Given the description of an element on the screen output the (x, y) to click on. 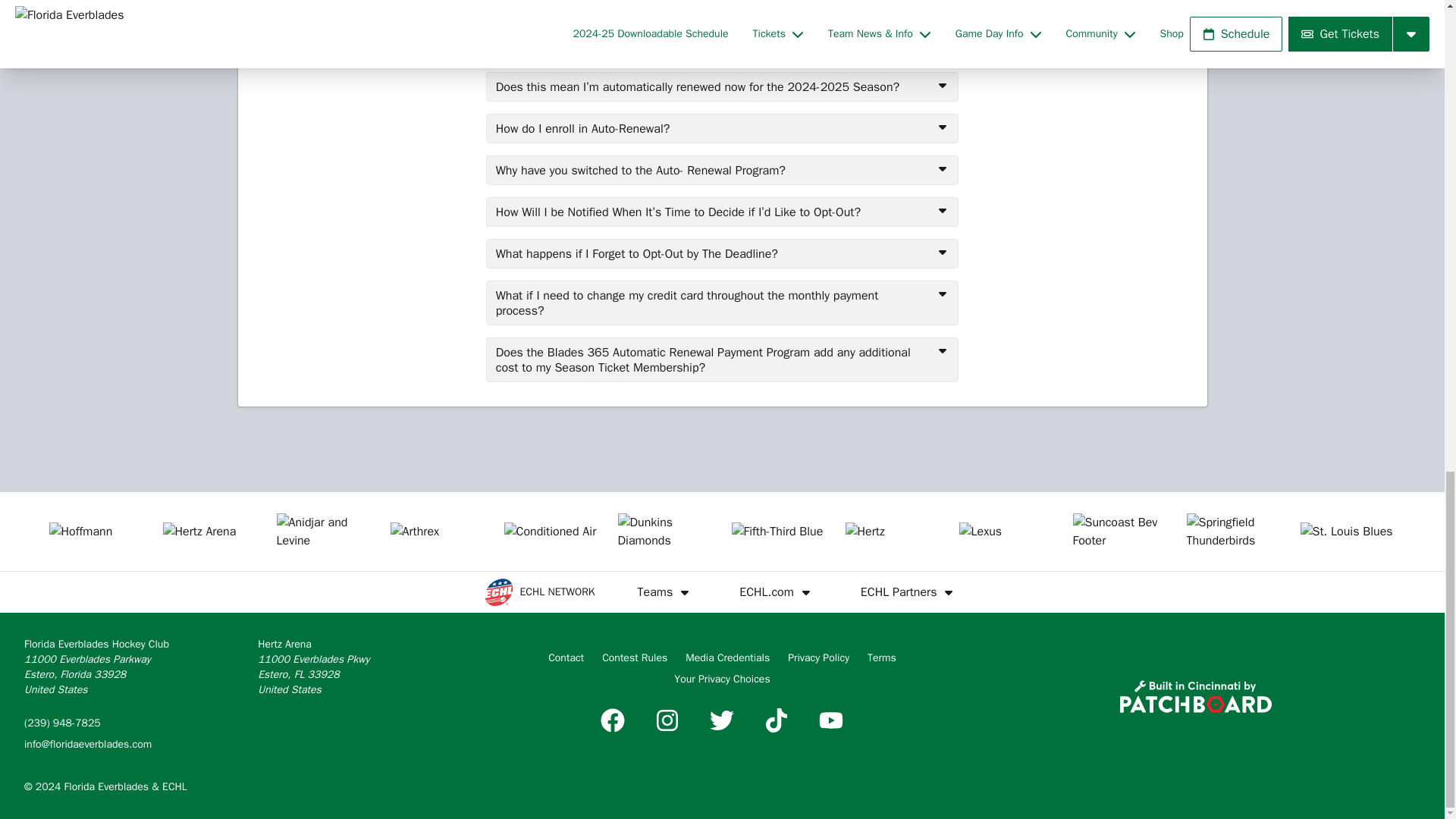
Facebook (612, 720)
TikTok (776, 720)
Instagram (667, 720)
Twitter (721, 720)
YouTube (830, 720)
Built in Cincinnati by Patchboard (1195, 696)
